Given the description of an element on the screen output the (x, y) to click on. 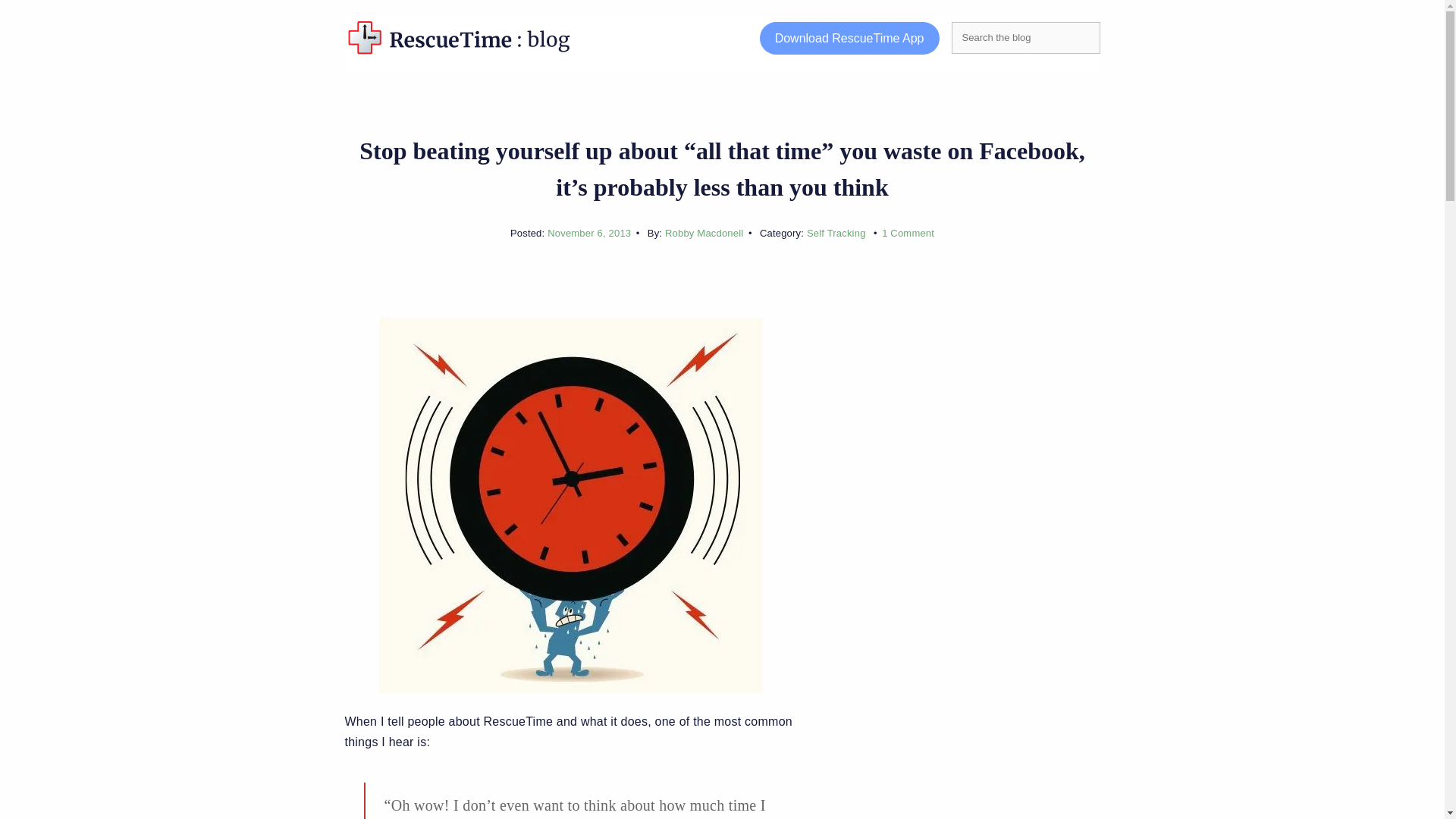
Search (32, 13)
Download RescueTime App (849, 38)
RescueTime Blog (674, 37)
November 6, 2013 (588, 233)
Self Tracking (836, 233)
Search the blog (1024, 38)
Robby Macdonell (703, 233)
